Given the description of an element on the screen output the (x, y) to click on. 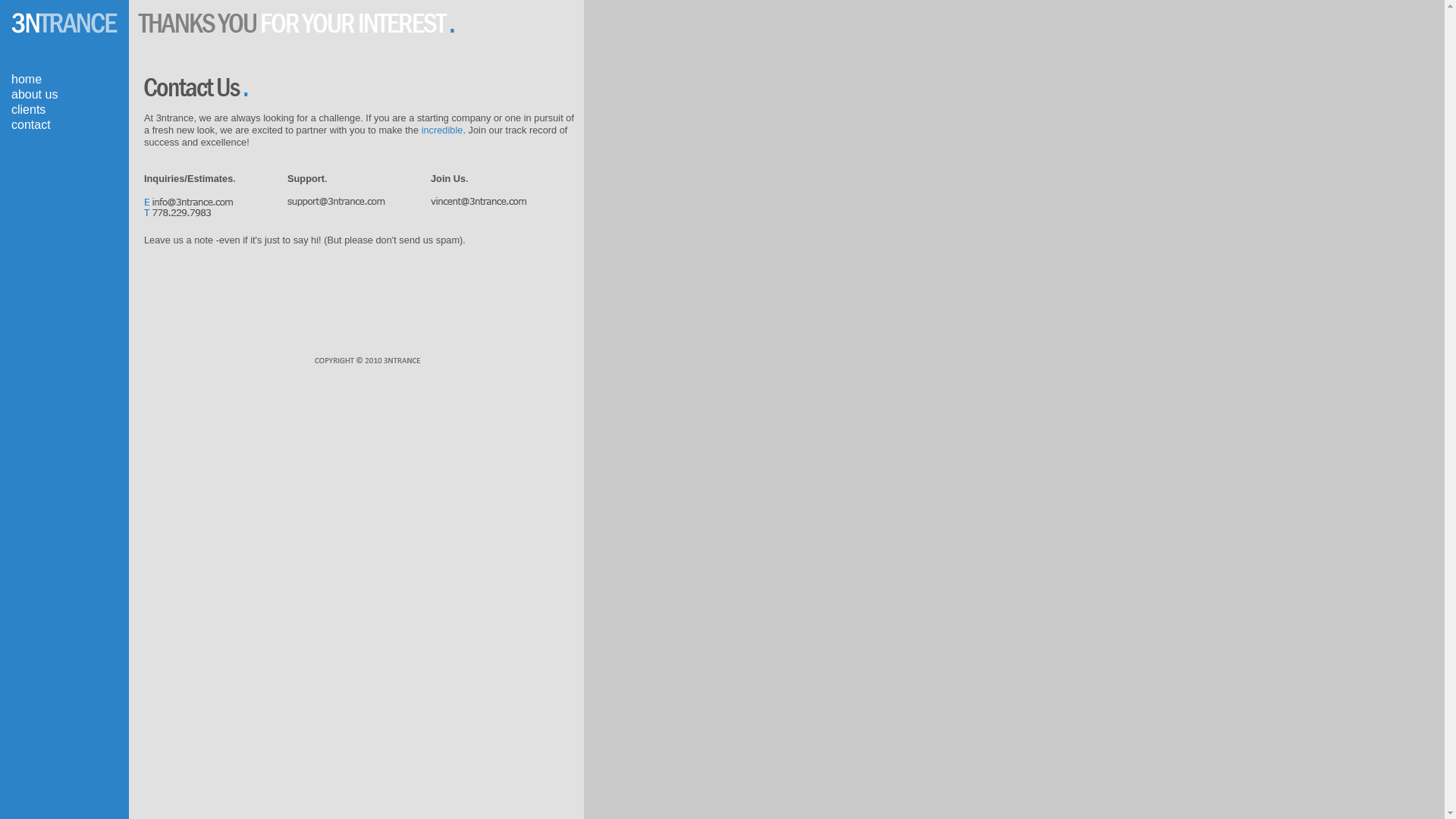
home Element type: text (26, 78)
about us Element type: text (34, 93)
contact Element type: text (30, 124)
clients Element type: text (28, 109)
